Given the description of an element on the screen output the (x, y) to click on. 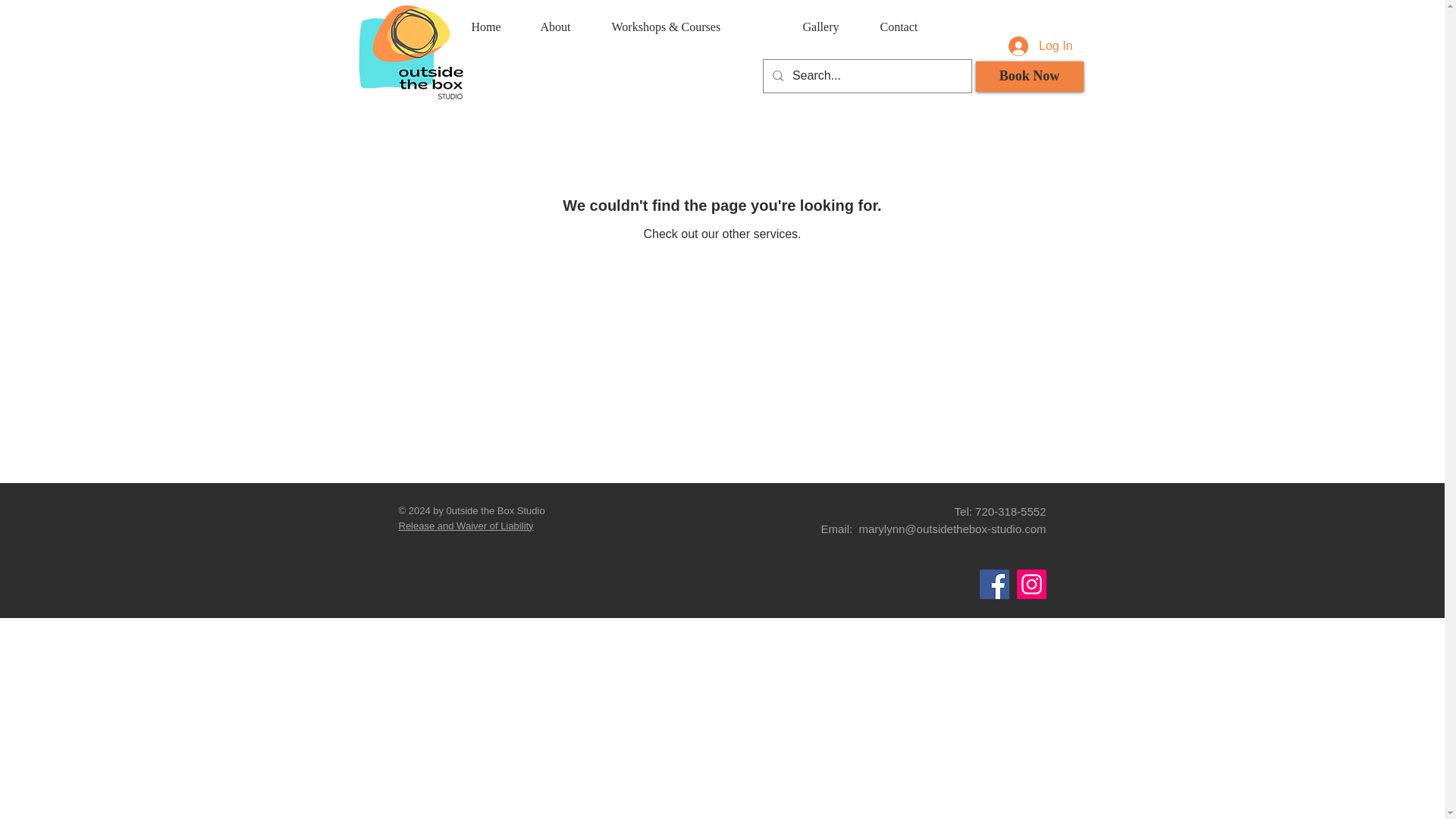
Log In (1040, 45)
Release and Waiver of Liability (466, 525)
Contact (912, 26)
About (564, 26)
Gallery (830, 26)
Book Now (1029, 76)
Home (494, 26)
